Given the description of an element on the screen output the (x, y) to click on. 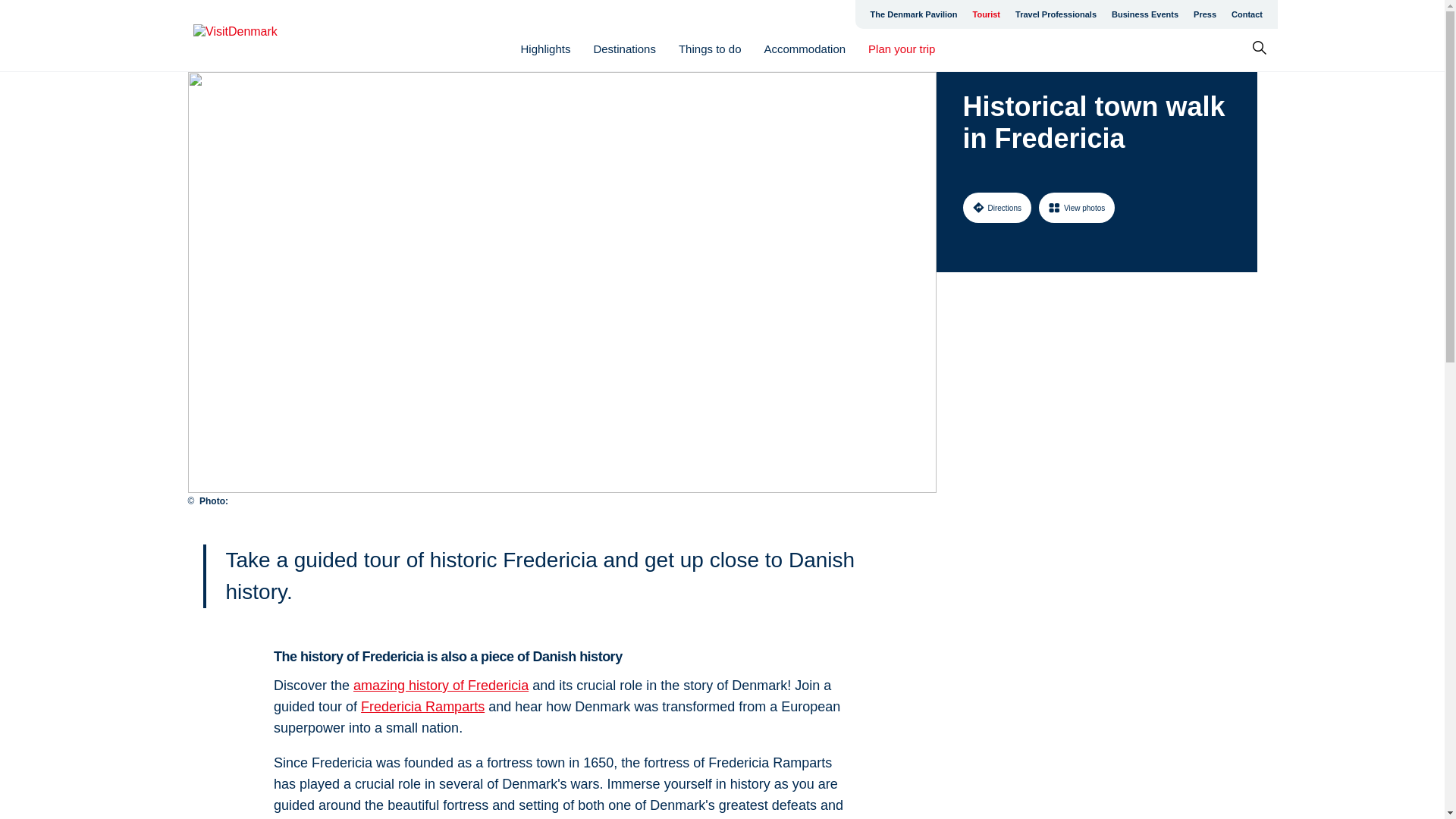
Travel Professionals (1055, 14)
Accommodation (804, 48)
View photos (1077, 207)
amazing history of Fredericia (440, 685)
Tourist (986, 14)
Business Events (1144, 14)
The Denmark Pavilion (914, 14)
Fredericia Ramparts (422, 706)
Highlights (545, 48)
Destinations (624, 48)
